Given the description of an element on the screen output the (x, y) to click on. 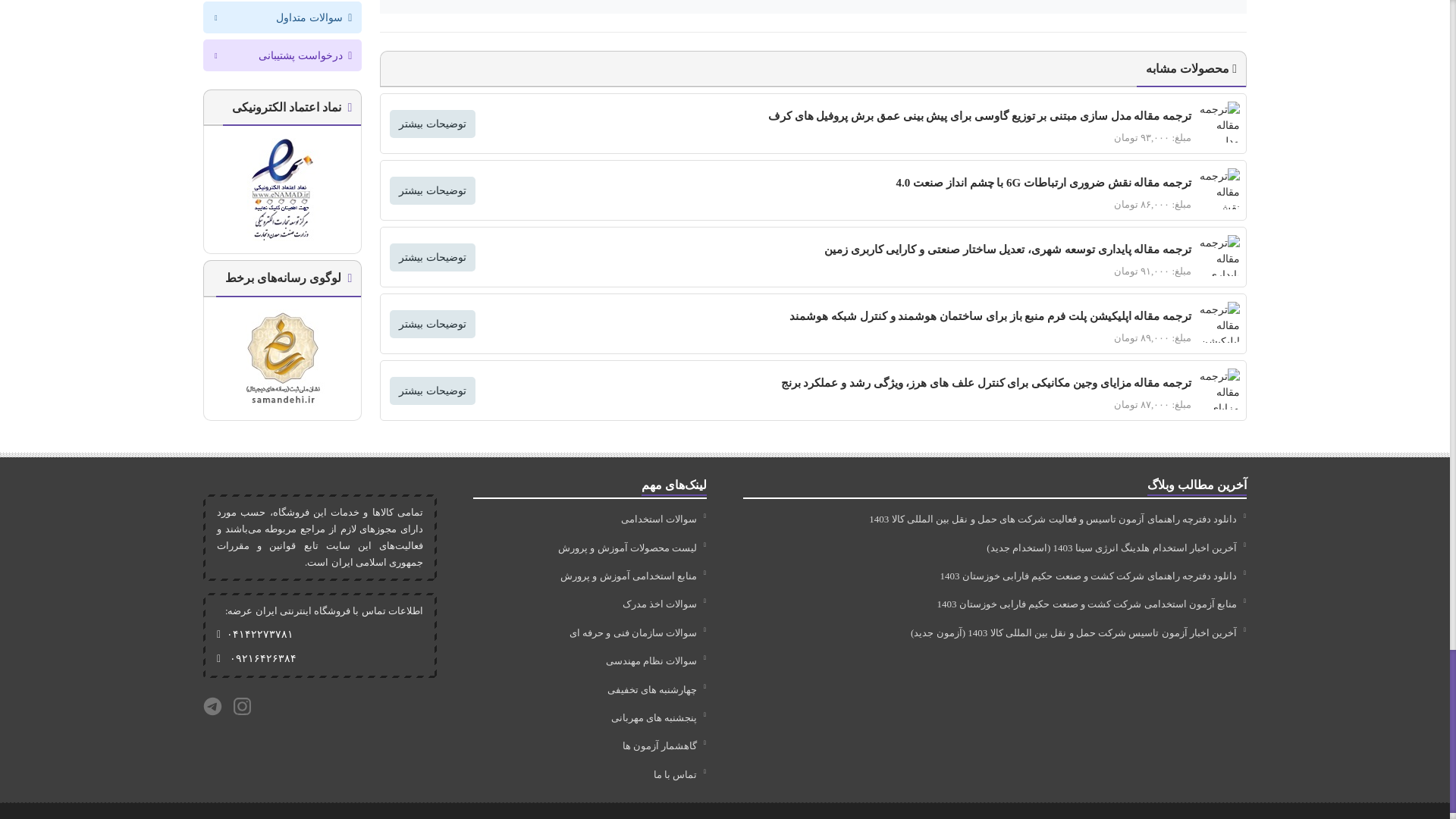
telegram (212, 705)
